Given the description of an element on the screen output the (x, y) to click on. 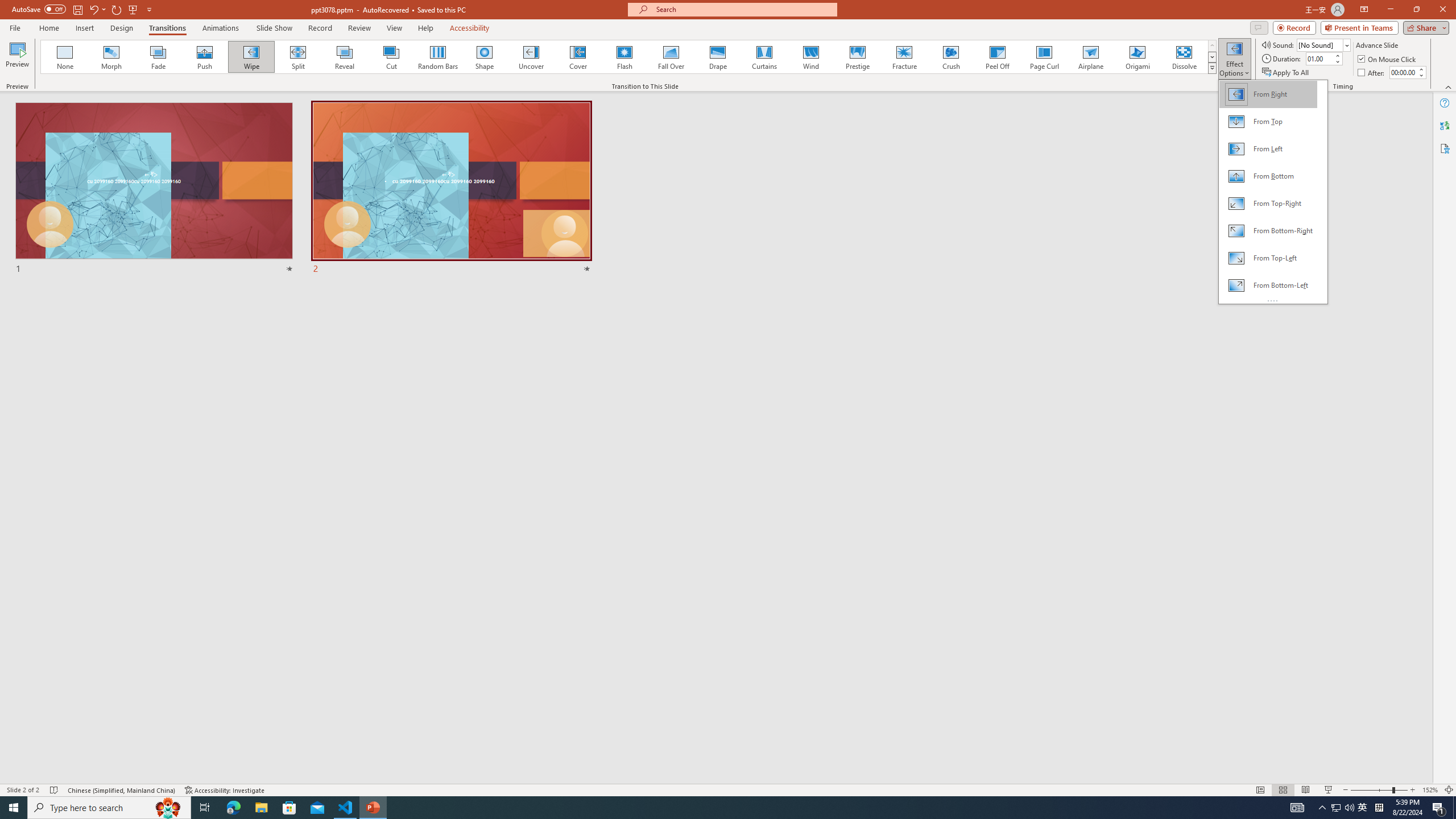
On Mouse Click (1387, 58)
Effect &Options (1272, 191)
Zoom 152% (1430, 790)
Page Curl (1043, 56)
Fracture (903, 56)
Fall Over (670, 56)
